Given the description of an element on the screen output the (x, y) to click on. 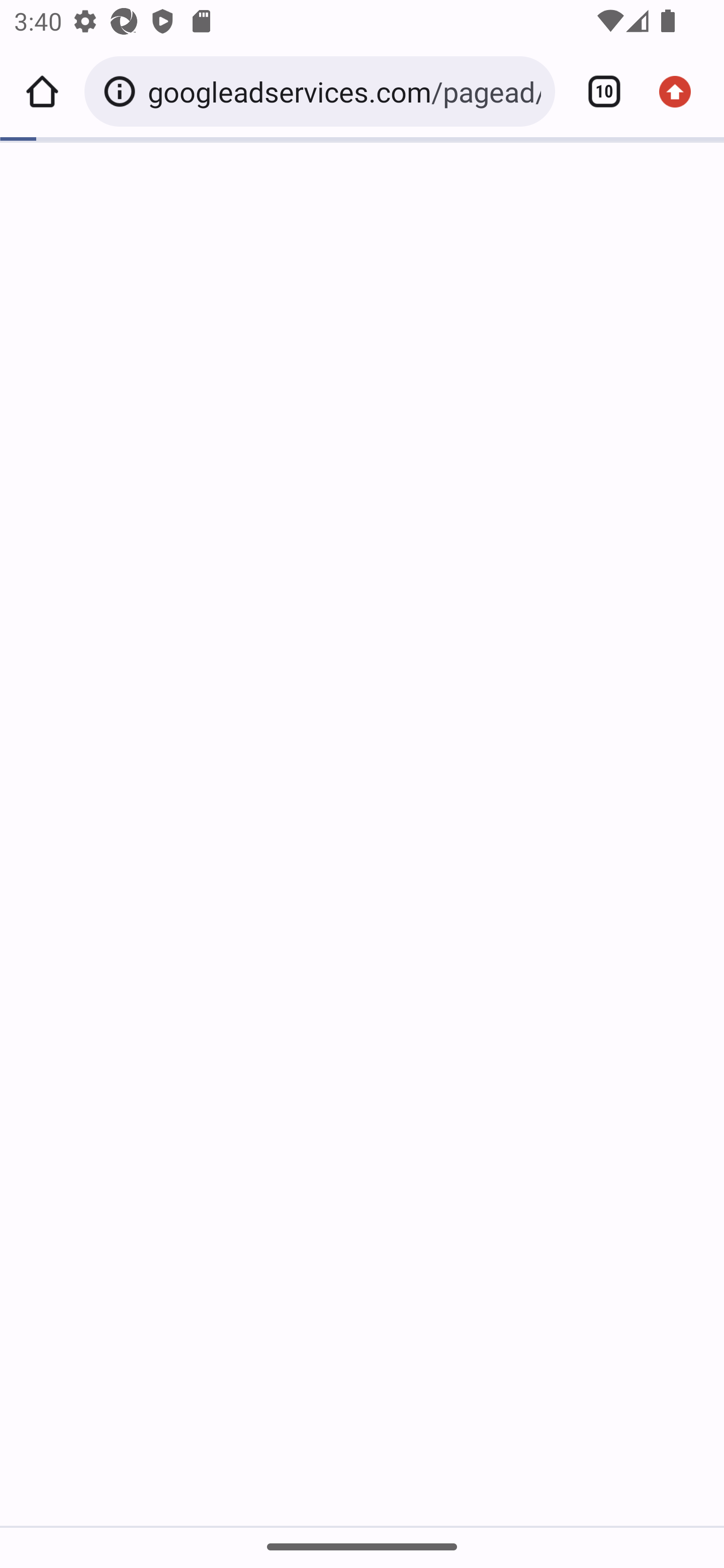
Home (42, 91)
Your connection to this site is not secure (122, 91)
Switch or close tabs (597, 91)
Update available. More options (681, 91)
